Given the description of an element on the screen output the (x, y) to click on. 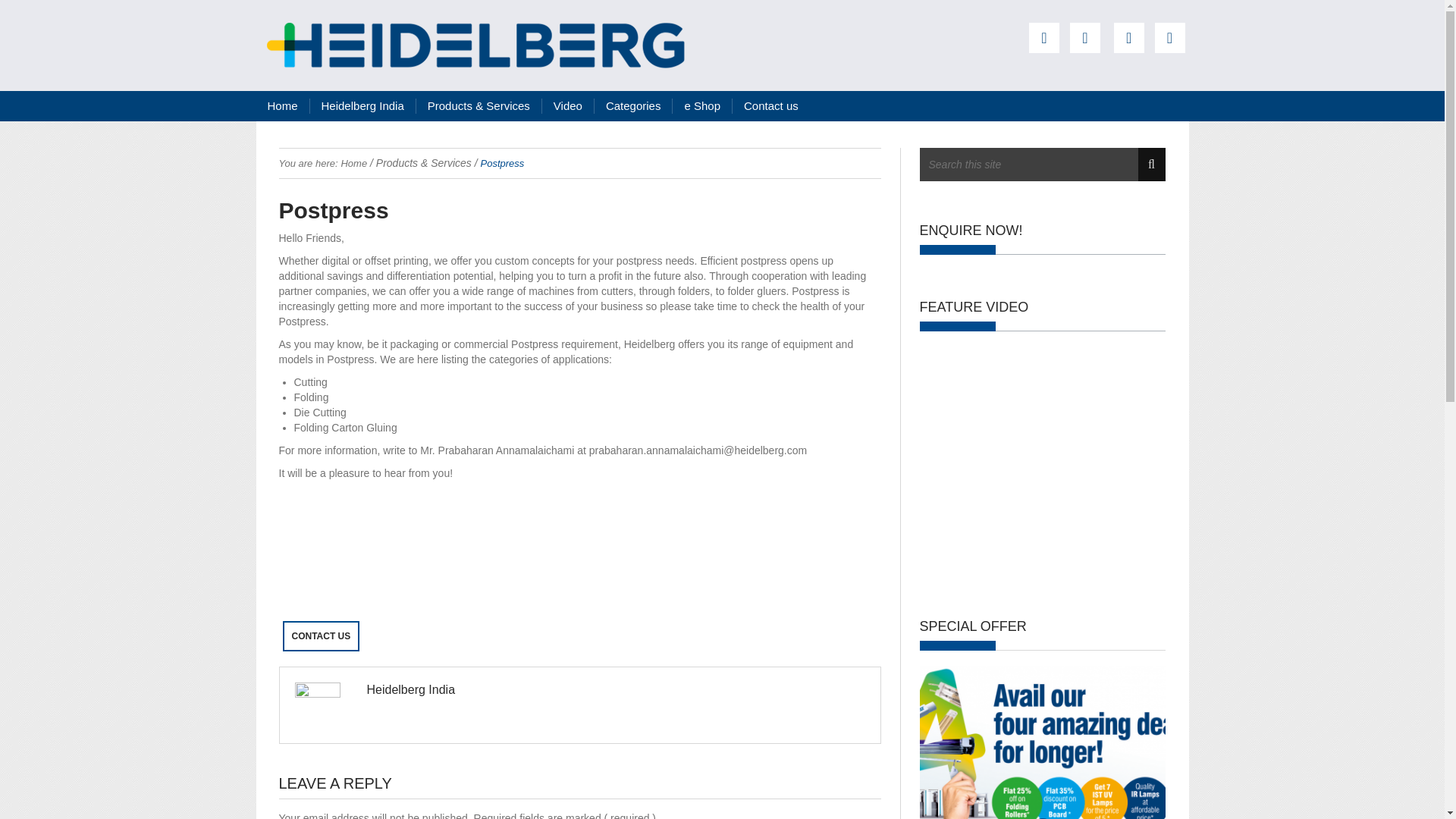
Categories (633, 105)
YouTube video player (1041, 465)
Home (282, 105)
Contact us (770, 105)
Video (567, 105)
Posts by Heidelberg India (410, 689)
e Shop (701, 105)
Heidelberg India (361, 105)
